Given the description of an element on the screen output the (x, y) to click on. 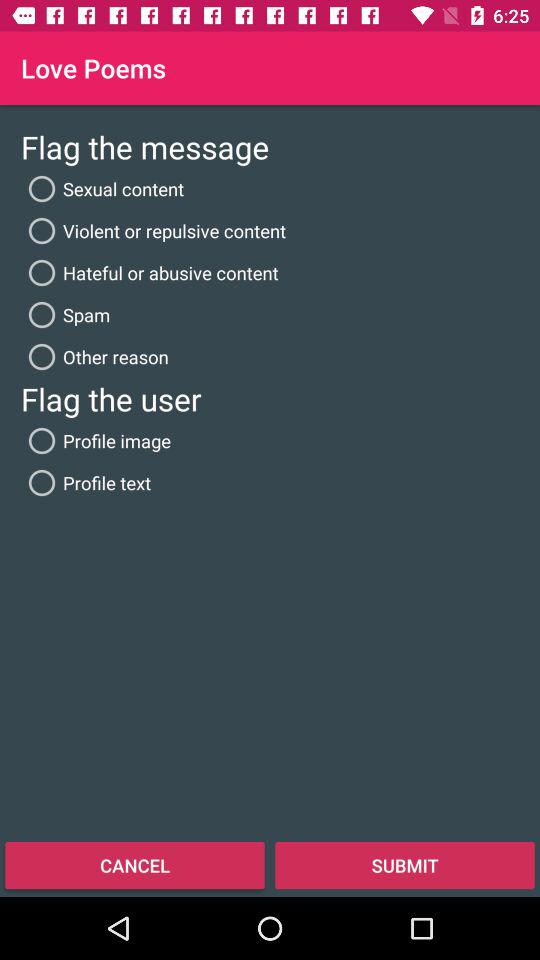
select icon below sexual content (153, 230)
